Given the description of an element on the screen output the (x, y) to click on. 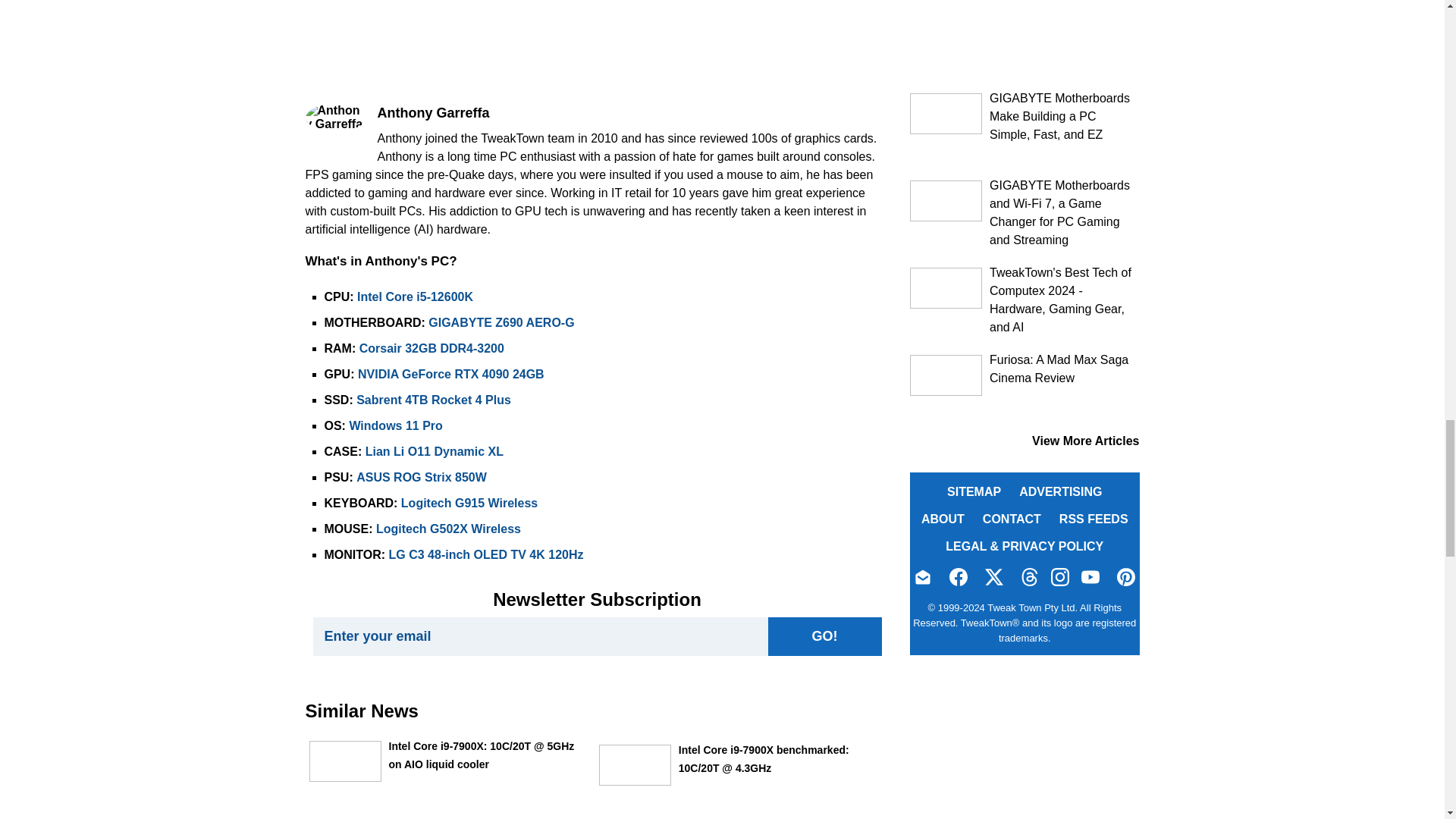
GO! (823, 636)
